Given the description of an element on the screen output the (x, y) to click on. 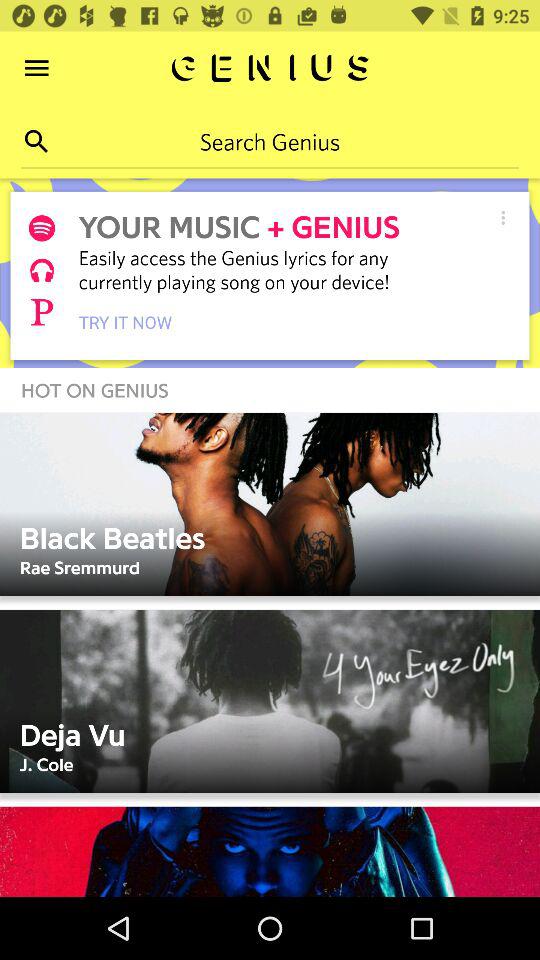
search bar (270, 141)
